Given the description of an element on the screen output the (x, y) to click on. 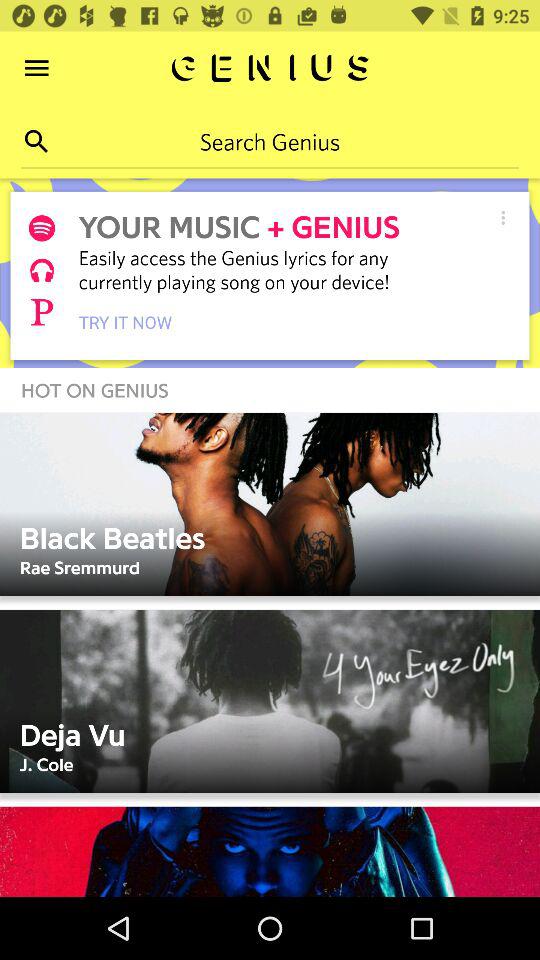
search bar (270, 141)
